Given the description of an element on the screen output the (x, y) to click on. 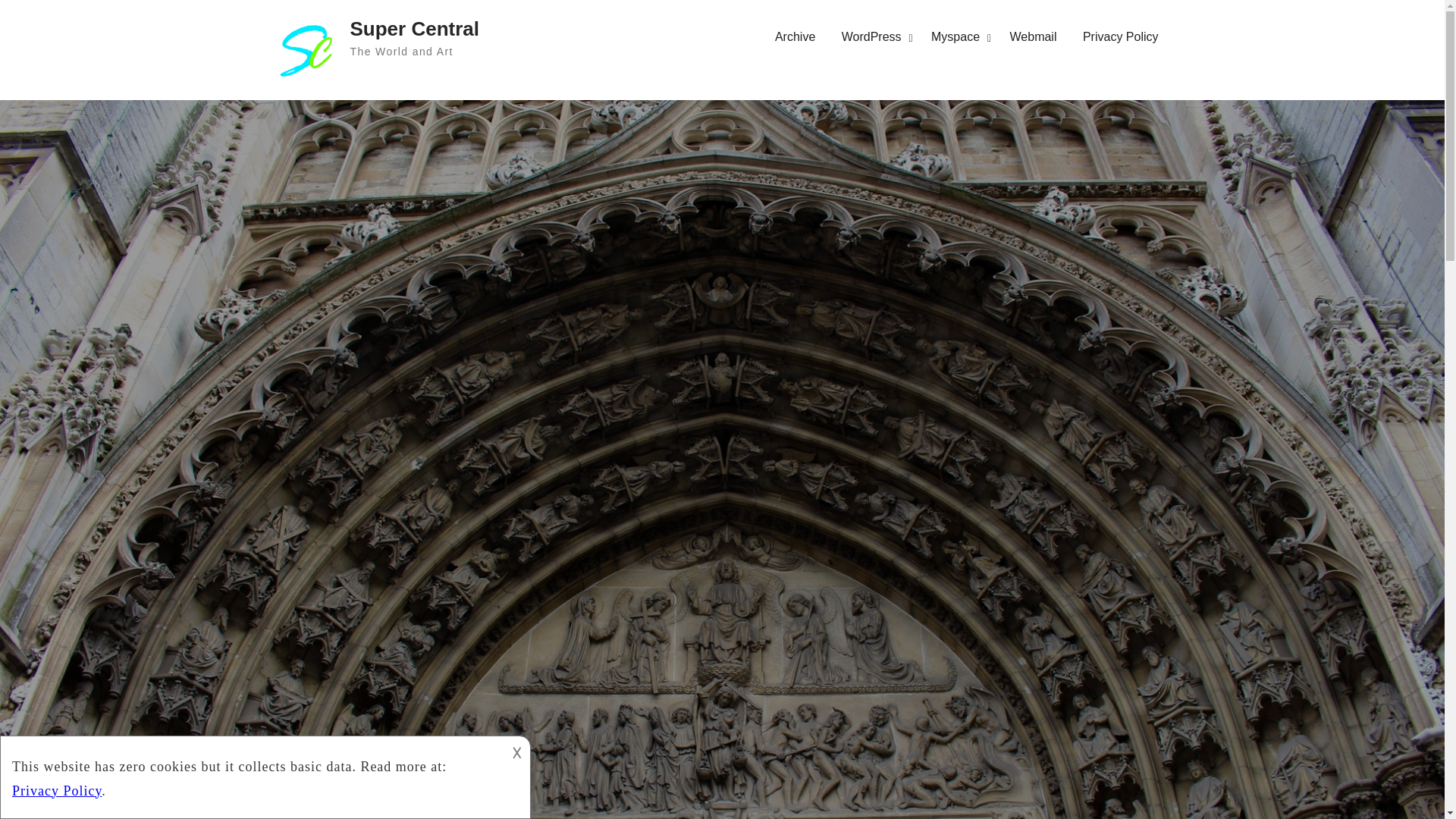
Myspace (957, 36)
Webmail (1033, 36)
Privacy Policy (1120, 36)
Super Central (415, 28)
description (252, 774)
WordPress (873, 36)
Archive (794, 36)
